Given the description of an element on the screen output the (x, y) to click on. 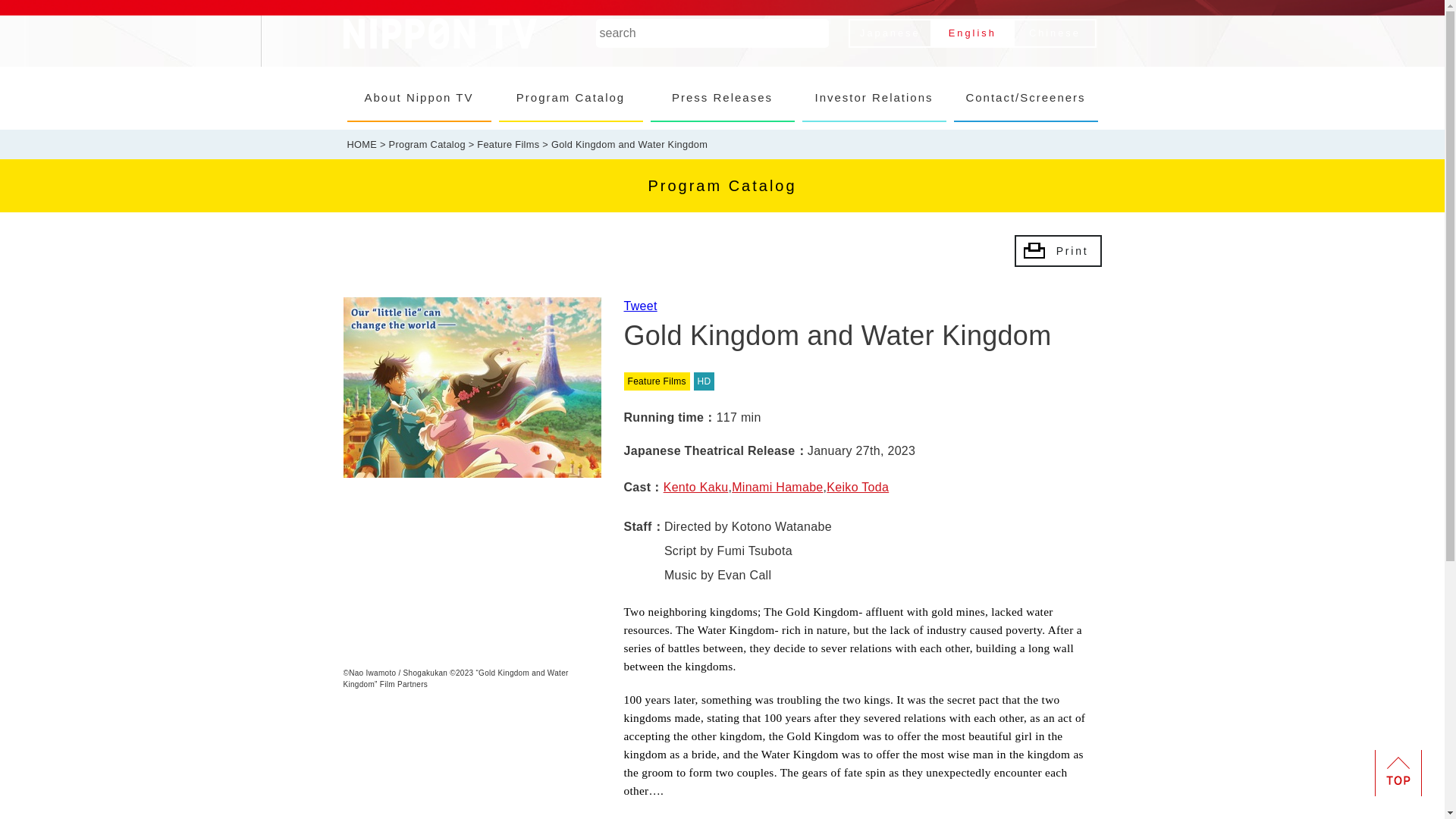
English (972, 32)
Chinese (1055, 32)
Program Catalog (571, 98)
Feature Films (507, 143)
Keiko Toda (857, 486)
HOME (362, 143)
About Nippon TV (419, 98)
Print (1058, 250)
Kento Kaku (696, 486)
Press Releases (722, 98)
Japanese (889, 32)
Investor Relations (874, 98)
NIPPON TV (438, 33)
Minami Hamabe (777, 486)
Tweet (639, 305)
